Given the description of an element on the screen output the (x, y) to click on. 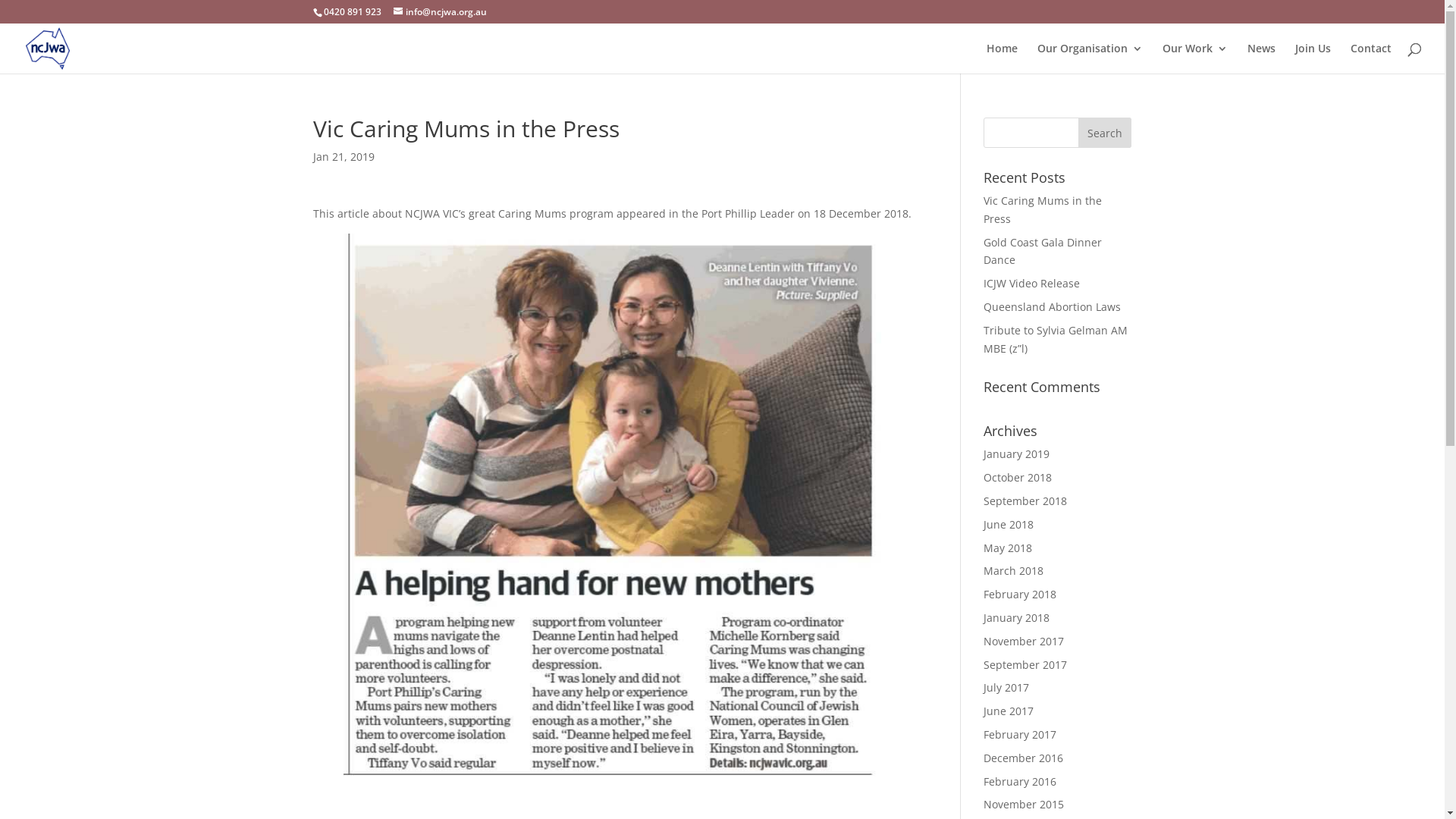
Queensland Abortion Laws Element type: text (1051, 306)
info@ncjwa.org.au Element type: text (439, 11)
February 2018 Element type: text (1019, 593)
September 2018 Element type: text (1024, 500)
February 2016 Element type: text (1019, 781)
January 2019 Element type: text (1016, 453)
May 2018 Element type: text (1007, 547)
Search Element type: text (1104, 132)
December 2016 Element type: text (1023, 757)
Our Organisation Element type: text (1089, 58)
July 2017 Element type: text (1006, 687)
November 2017 Element type: text (1023, 640)
October 2018 Element type: text (1017, 477)
June 2018 Element type: text (1008, 524)
Contact Element type: text (1370, 58)
June 2017 Element type: text (1008, 710)
Gold Coast Gala Dinner Dance Element type: text (1042, 251)
ICJW Video Release Element type: text (1031, 283)
February 2017 Element type: text (1019, 734)
March 2018 Element type: text (1013, 570)
Join Us Element type: text (1312, 58)
Our Work Element type: text (1194, 58)
News Element type: text (1261, 58)
September 2017 Element type: text (1024, 664)
January 2018 Element type: text (1016, 617)
November 2015 Element type: text (1023, 804)
Home Element type: text (1001, 58)
Vic Caring Mums in the Press Element type: text (1042, 209)
